Given the description of an element on the screen output the (x, y) to click on. 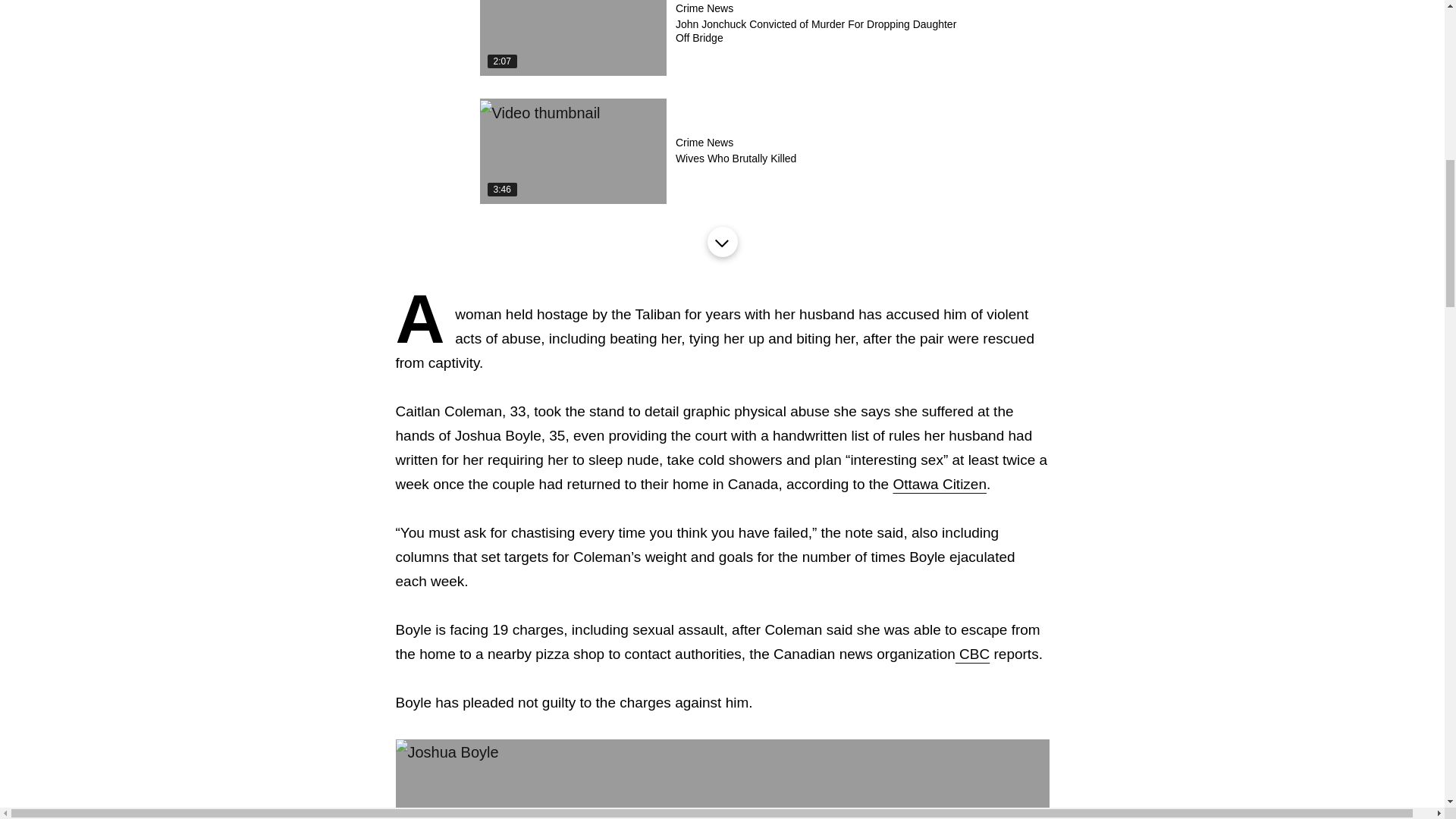
CBC (972, 653)
Load More (721, 150)
Ottawa Citizen (721, 241)
